Given the description of an element on the screen output the (x, y) to click on. 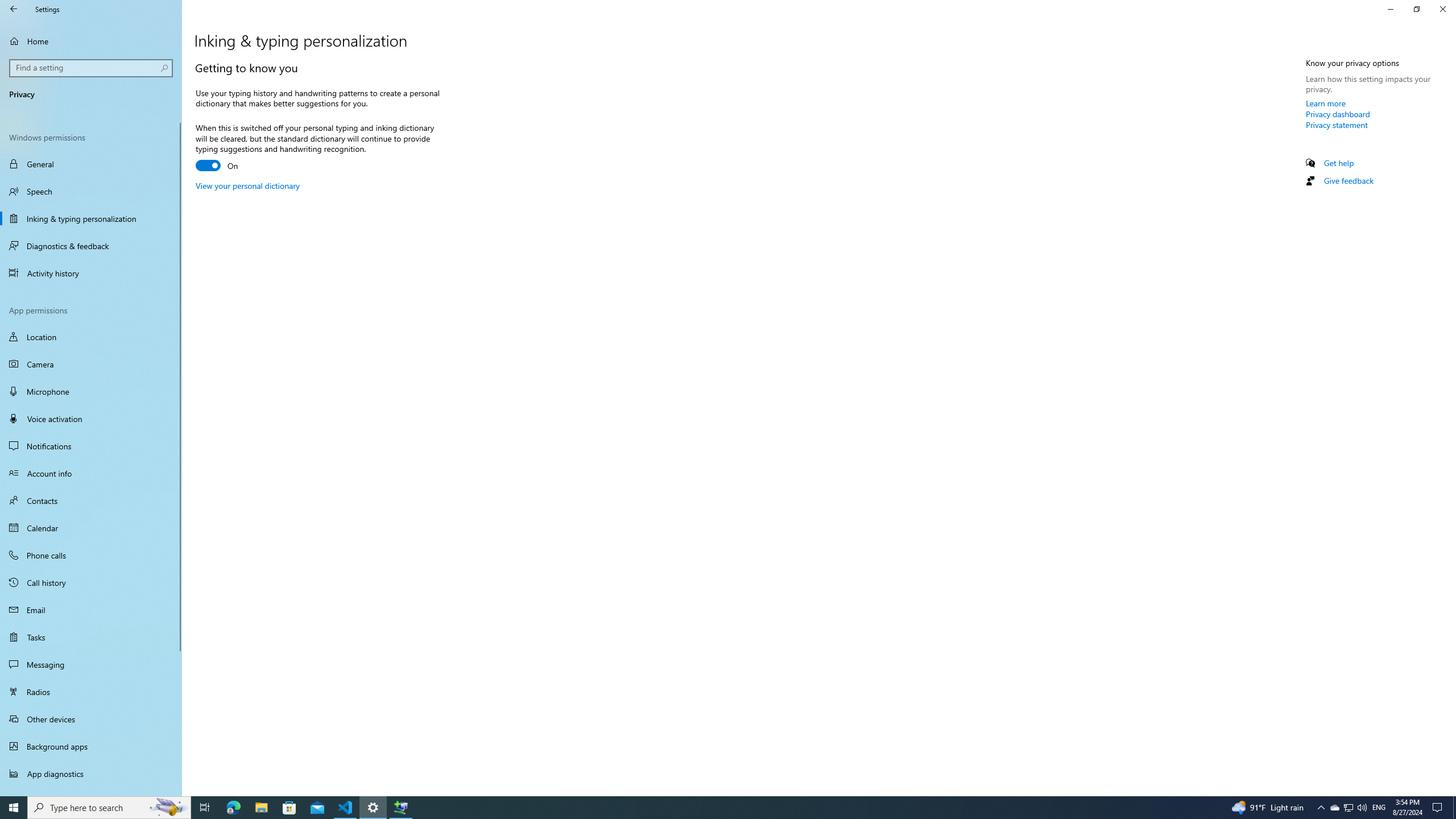
Contacts (91, 500)
Email (91, 609)
Close Settings (1442, 9)
Voice activation (91, 418)
General (91, 163)
Microphone (91, 390)
Background apps (91, 746)
Speech (91, 190)
Give feedback (1348, 180)
